Given the description of an element on the screen output the (x, y) to click on. 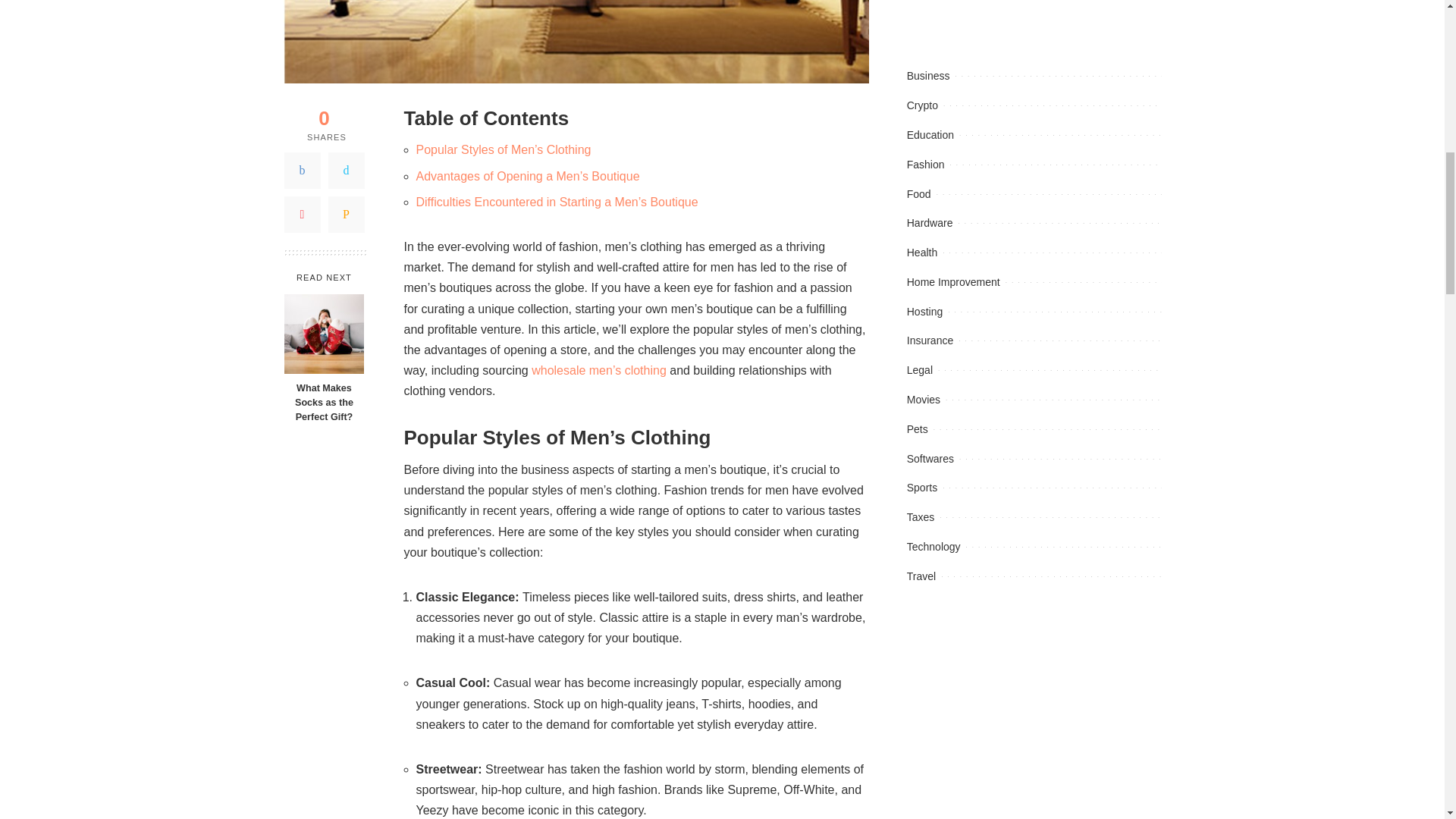
What Makes Socks as the Perfect Gift? (323, 403)
Twitter (345, 170)
What Makes Socks as the Perfect Gift? (323, 333)
Email (345, 214)
Pinterest (301, 214)
Facebook (301, 170)
How to Start a Men's Boutique: A Guide to Success 1 (574, 41)
